Given the description of an element on the screen output the (x, y) to click on. 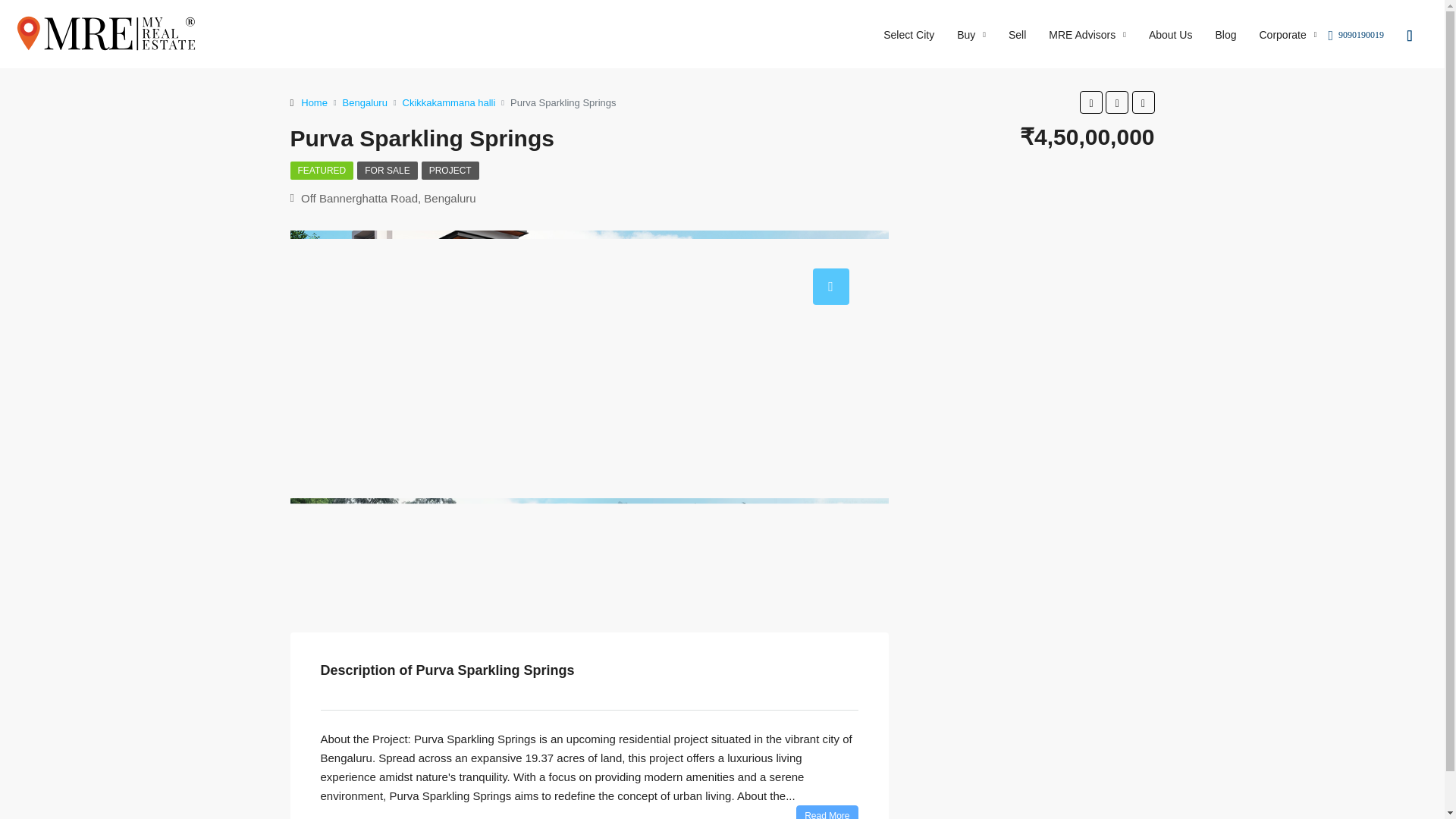
MRE Advisors (1086, 33)
Corporate (1287, 33)
About Us (1170, 33)
Select City (908, 33)
